Given the description of an element on the screen output the (x, y) to click on. 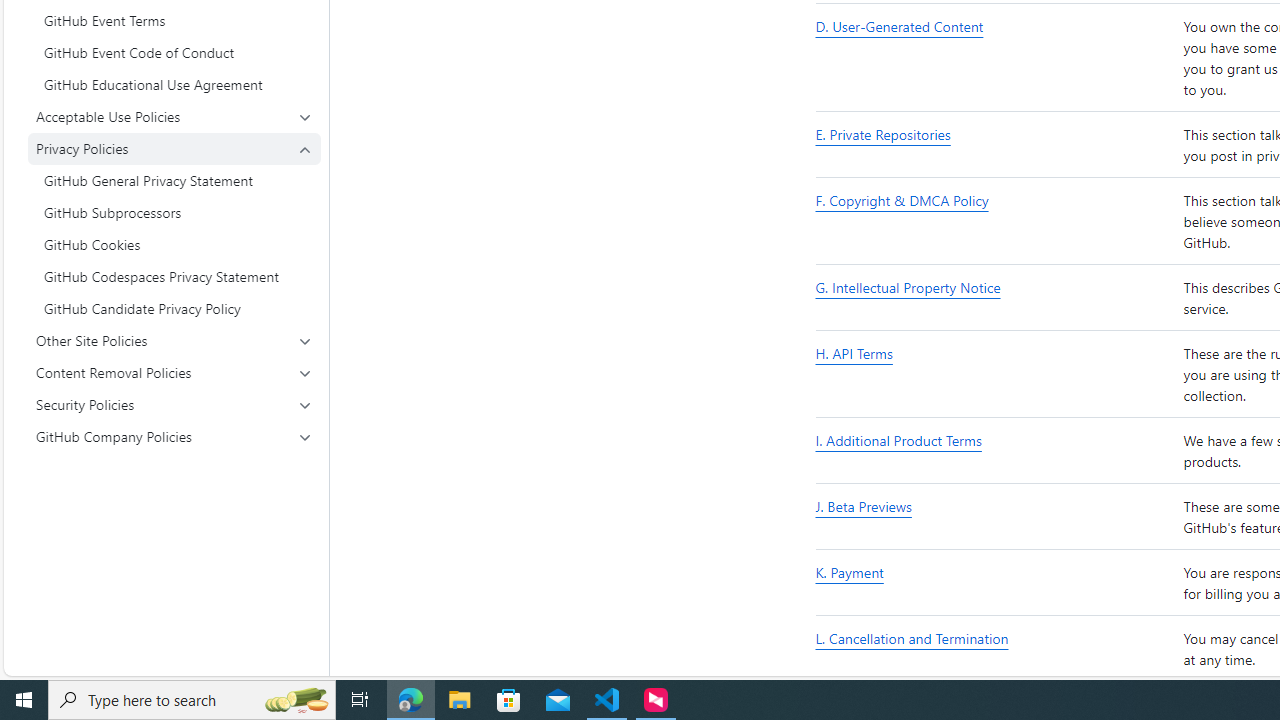
GitHub Event Code of Conduct (174, 52)
